Given the description of an element on the screen output the (x, y) to click on. 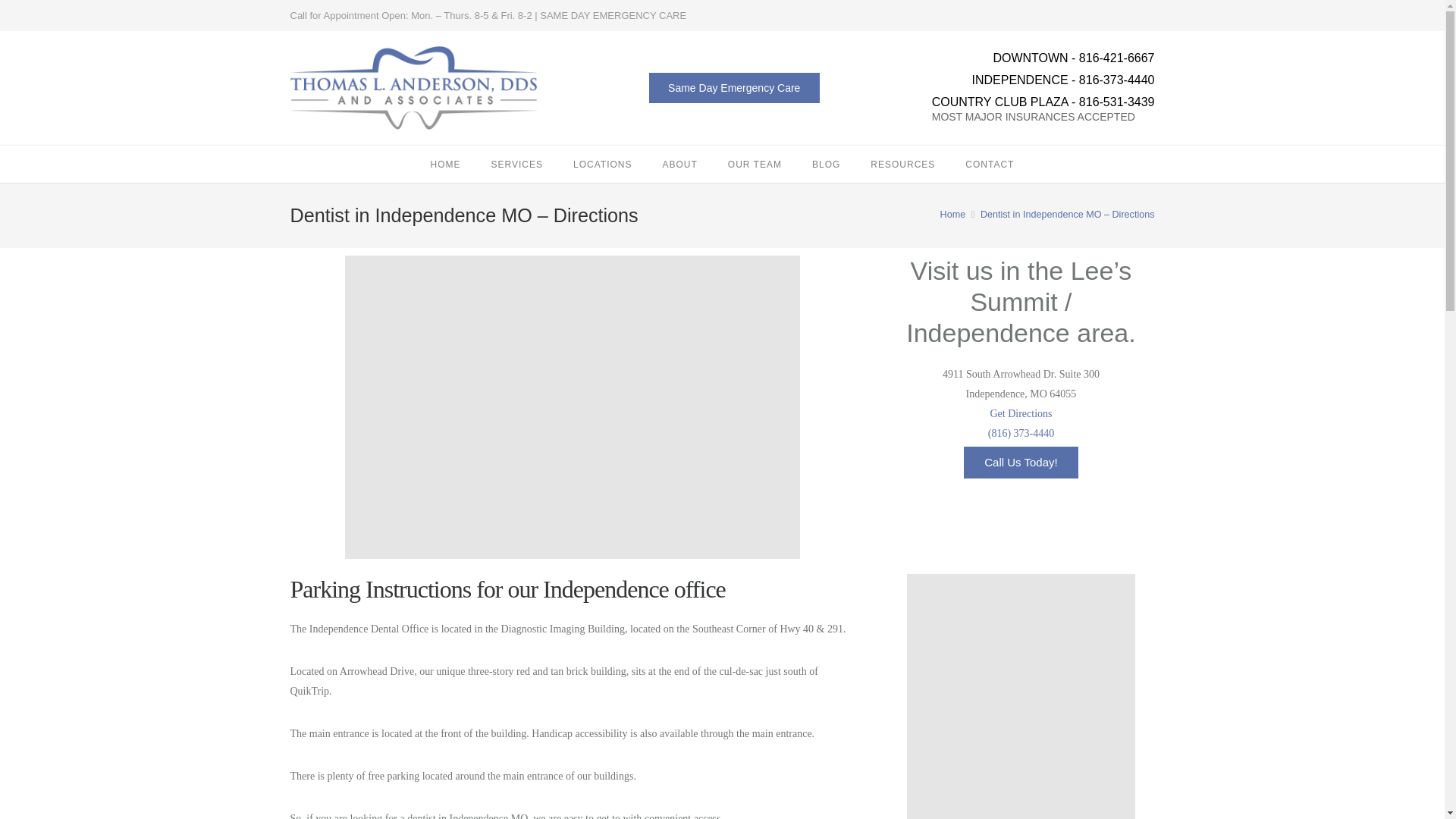
816-531-3439 (1116, 101)
LOCATIONS (601, 164)
816-373-4440 (1116, 79)
HOME (445, 164)
OUR TEAM (754, 164)
816-421-6667 (1116, 57)
Same Day Emergency Care (734, 87)
SERVICES (516, 164)
ABOUT (678, 164)
